Given the description of an element on the screen output the (x, y) to click on. 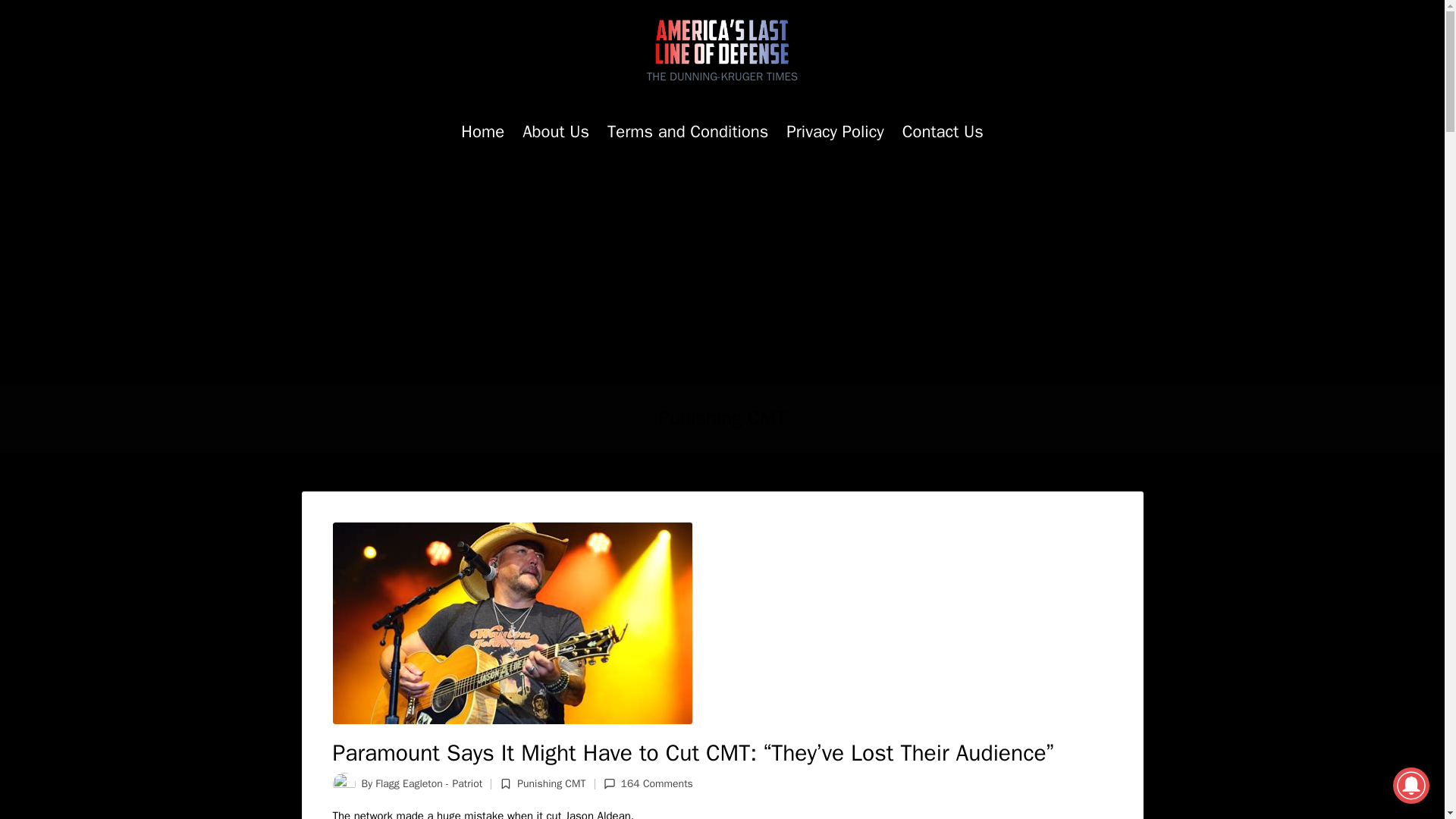
Punishing CMT (550, 783)
Contact Us (943, 132)
164 Comments (648, 783)
View all posts by Flagg Eagleton - Patriot (428, 783)
About Us (555, 132)
Flagg Eagleton - Patriot (428, 783)
Terms and Conditions (687, 132)
Privacy Policy (834, 132)
